Given the description of an element on the screen output the (x, y) to click on. 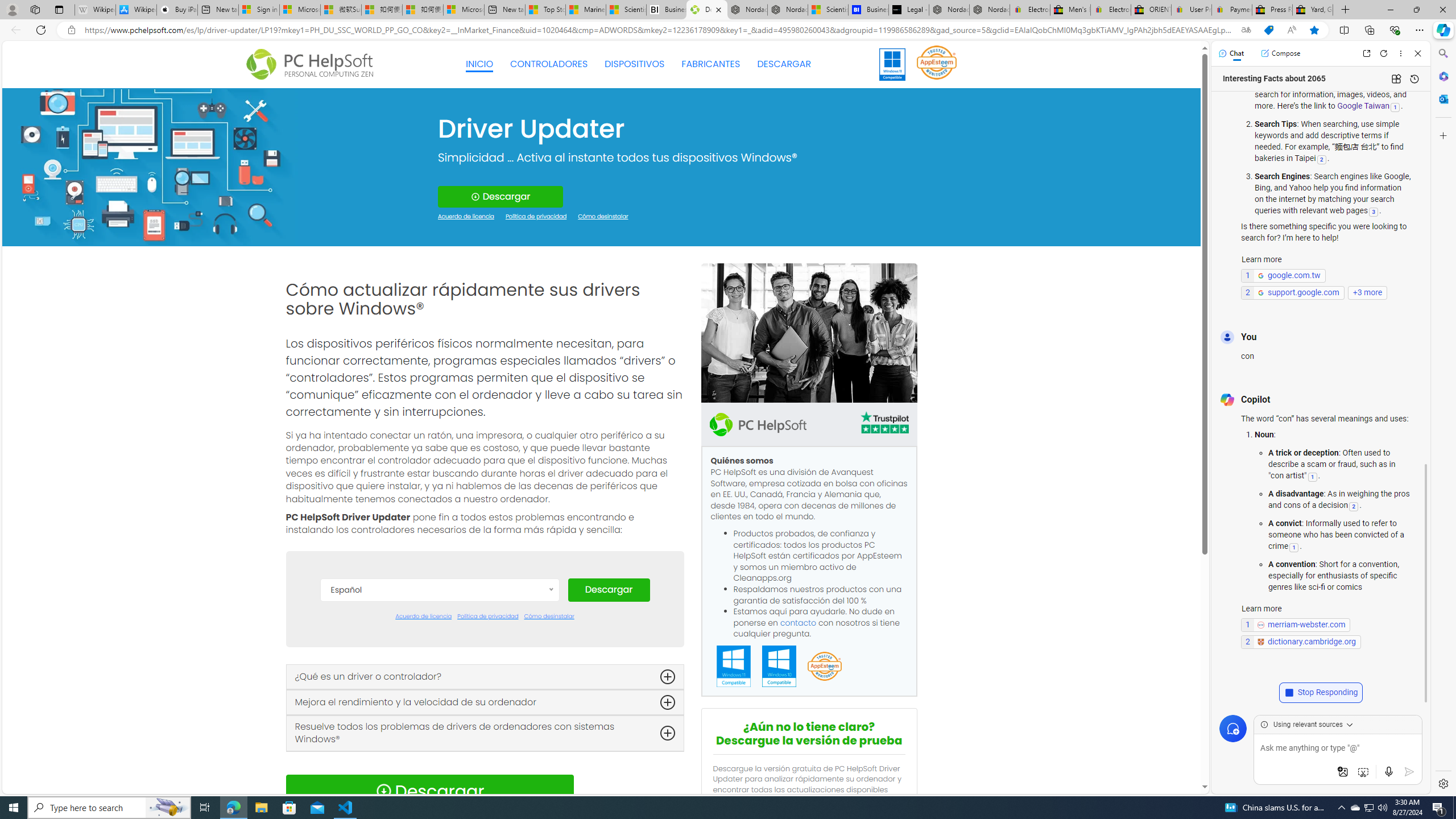
Chat (1231, 52)
FABRICANTES (711, 64)
contacto (798, 622)
Deutsch (439, 678)
Electronics, Cars, Fashion, Collectibles & More | eBay (1110, 9)
TrustPilot (884, 422)
Open link in new tab (1366, 53)
Nederlands (439, 763)
Logo Personal Computing (313, 64)
Descargar (608, 589)
